Given the description of an element on the screen output the (x, y) to click on. 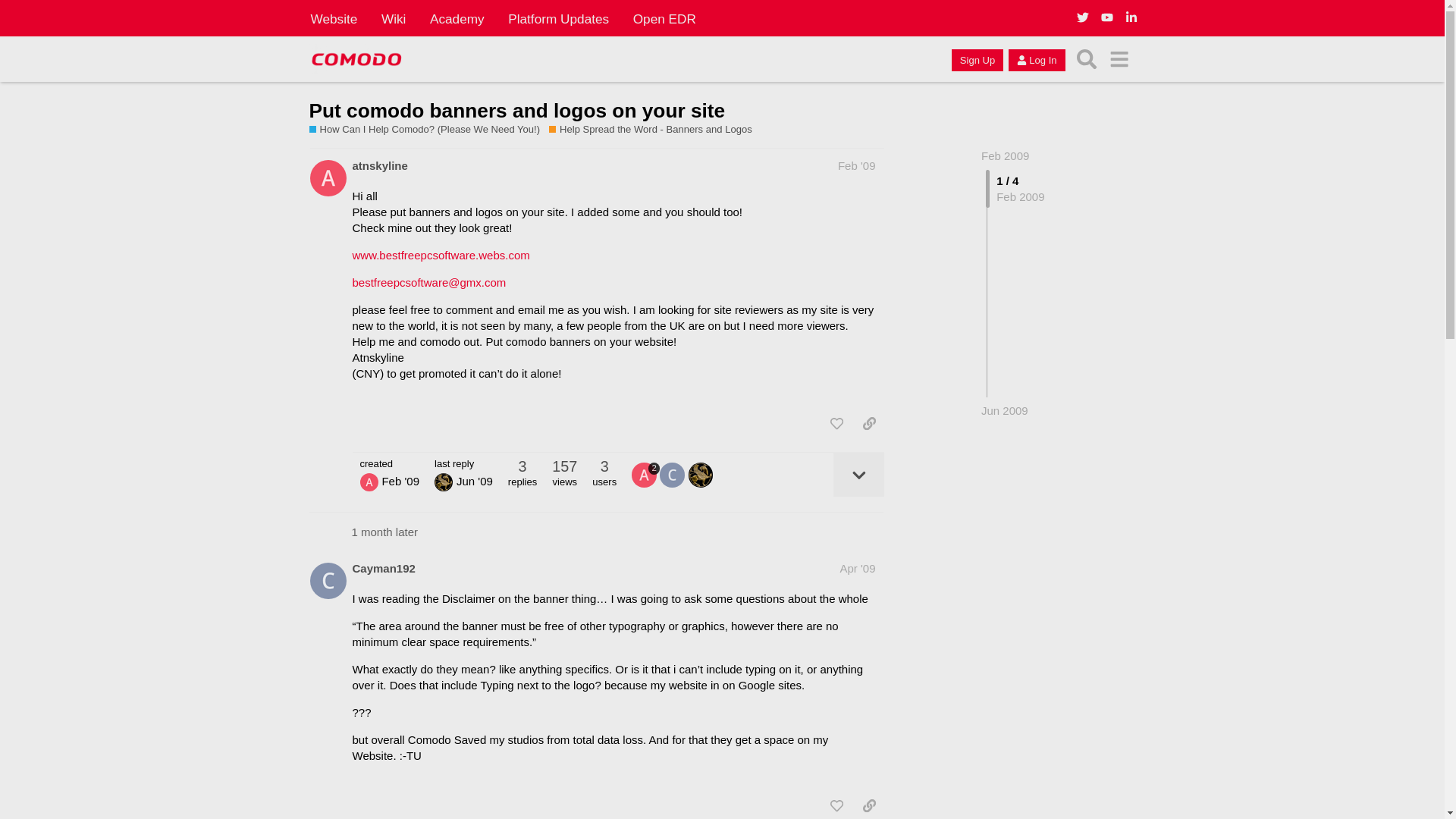
like this post (836, 423)
Feb 2009 (1005, 155)
Platform Updates (558, 18)
Sign Up (977, 60)
Platform Updates (558, 18)
Want to support Comodo? (430, 129)
Feb '09 (857, 164)
2 (645, 474)
Log In (1036, 60)
www.bestfreepcsoftware.webs.com (440, 254)
Post date (857, 164)
Website (333, 18)
menu (1119, 59)
Jun 2009 (1004, 410)
Website (333, 18)
